Given the description of an element on the screen output the (x, y) to click on. 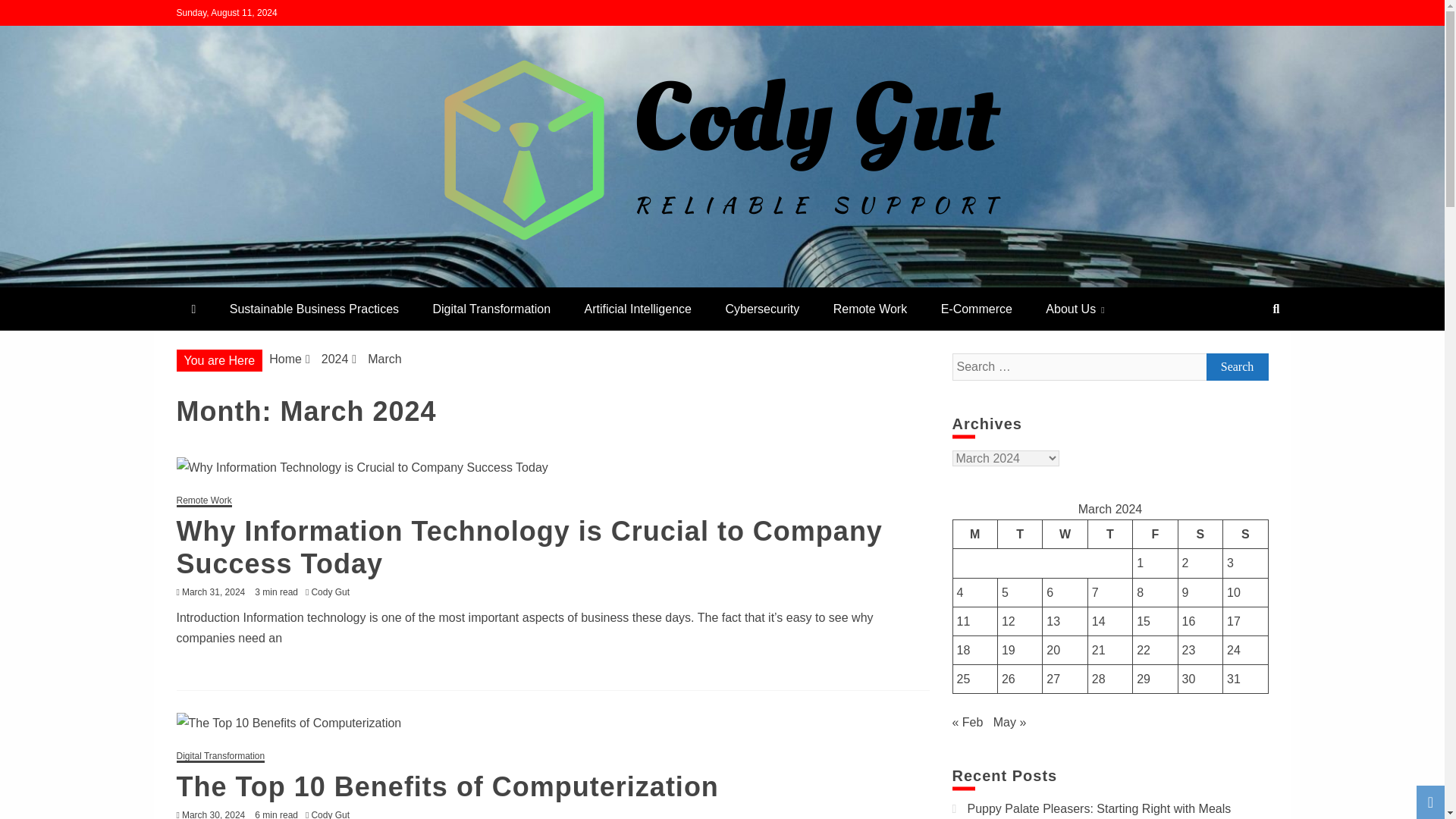
E-Commerce (976, 308)
Digital Transformation (491, 308)
Sustainable Business Practices (313, 308)
Monday (974, 534)
About Us (1074, 308)
Home (285, 358)
Cody Gut (333, 814)
Thursday (1109, 534)
